Given the description of an element on the screen output the (x, y) to click on. 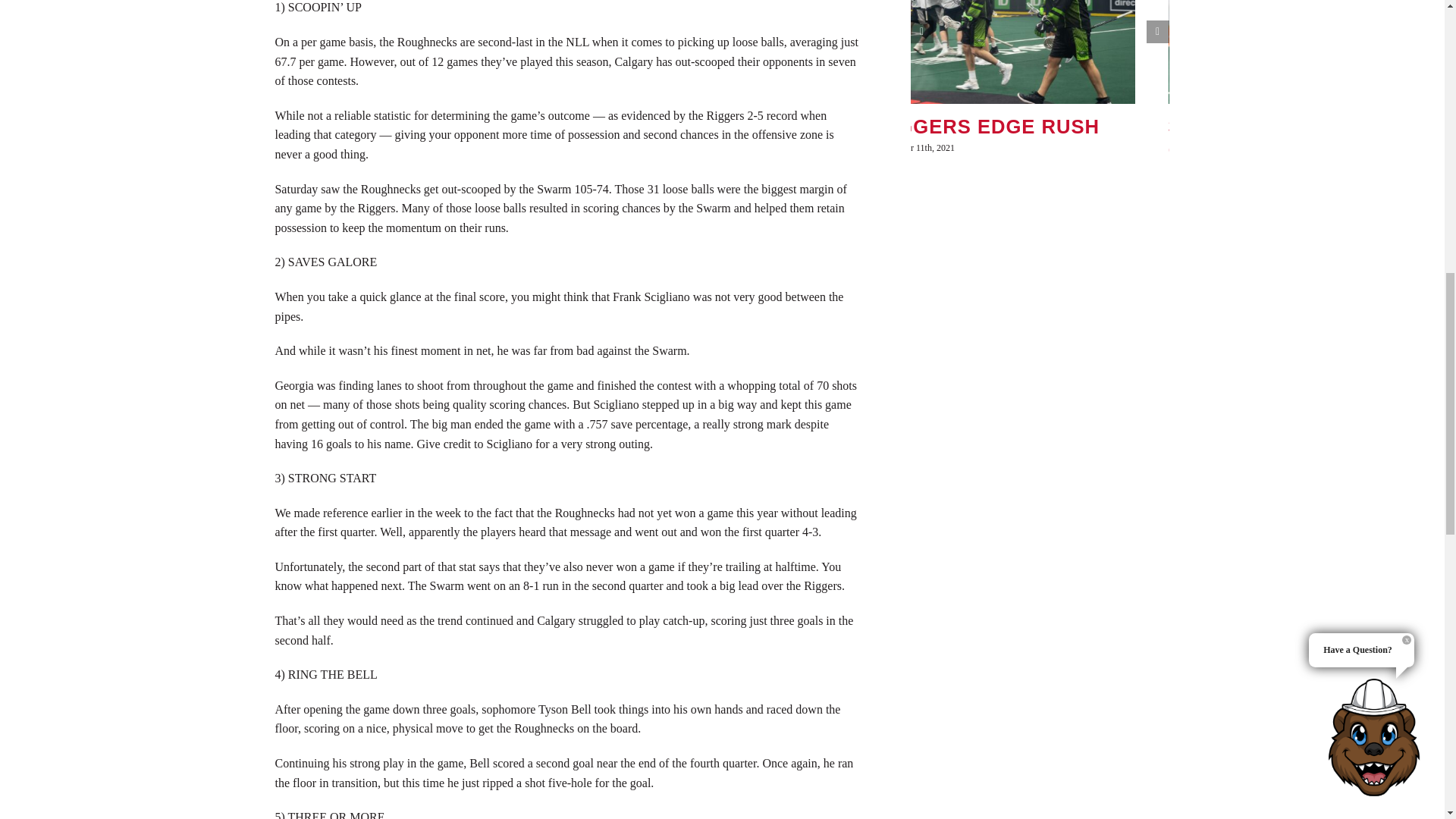
RIGGERS EDGE RUSH (987, 126)
